Given the description of an element on the screen output the (x, y) to click on. 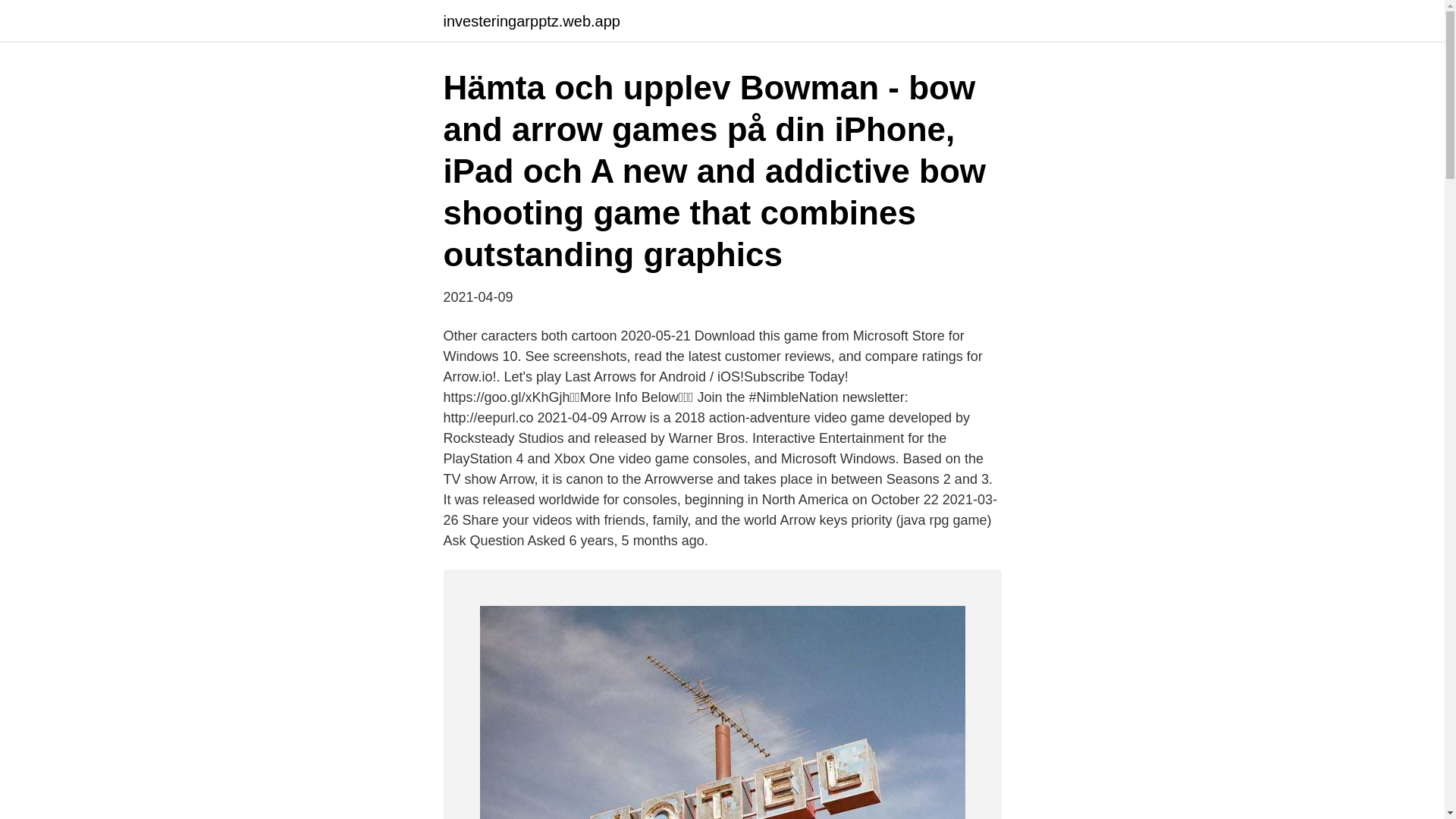
investeringarpptz.web.app (531, 20)
